Given the description of an element on the screen output the (x, y) to click on. 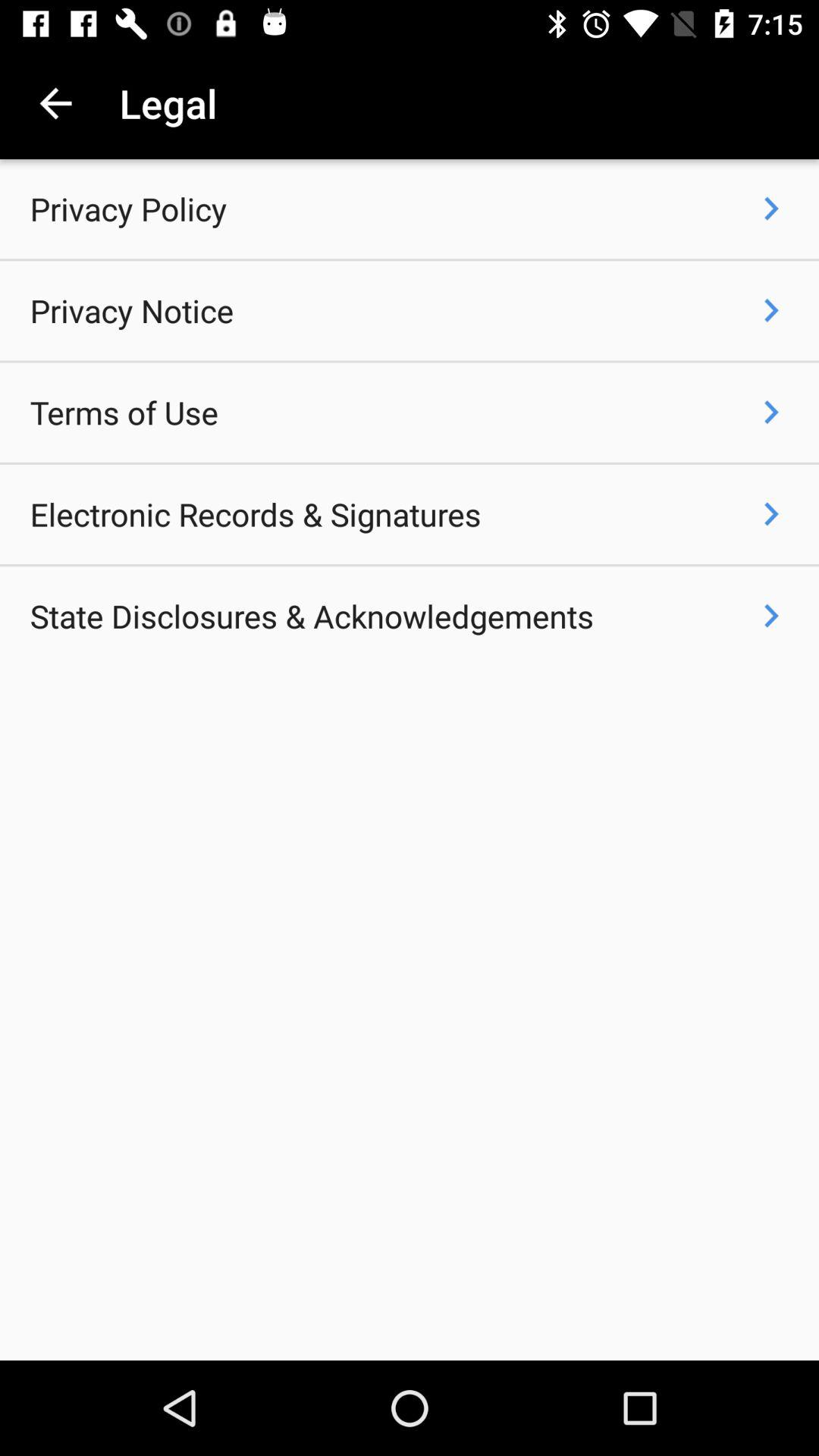
turn on the terms of use item (124, 412)
